Given the description of an element on the screen output the (x, y) to click on. 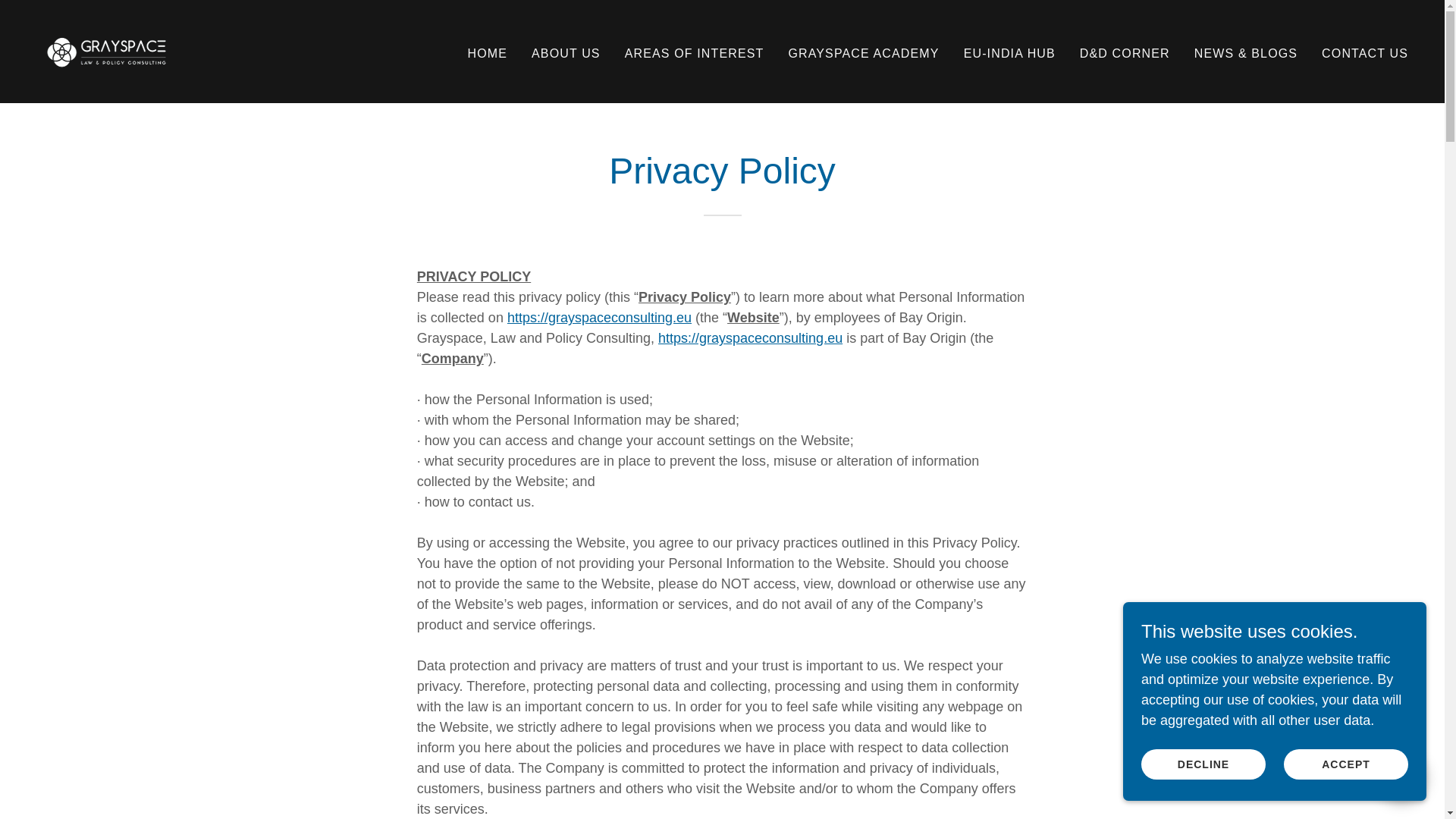
AREAS OF INTEREST (694, 52)
ABOUT US (566, 52)
EU-INDIA HUB (1009, 52)
ACCEPT (1345, 764)
GRAYSPACE ACADEMY (863, 52)
CONTACT US (1364, 52)
HOME (487, 52)
DECLINE (1203, 764)
